Given the description of an element on the screen output the (x, y) to click on. 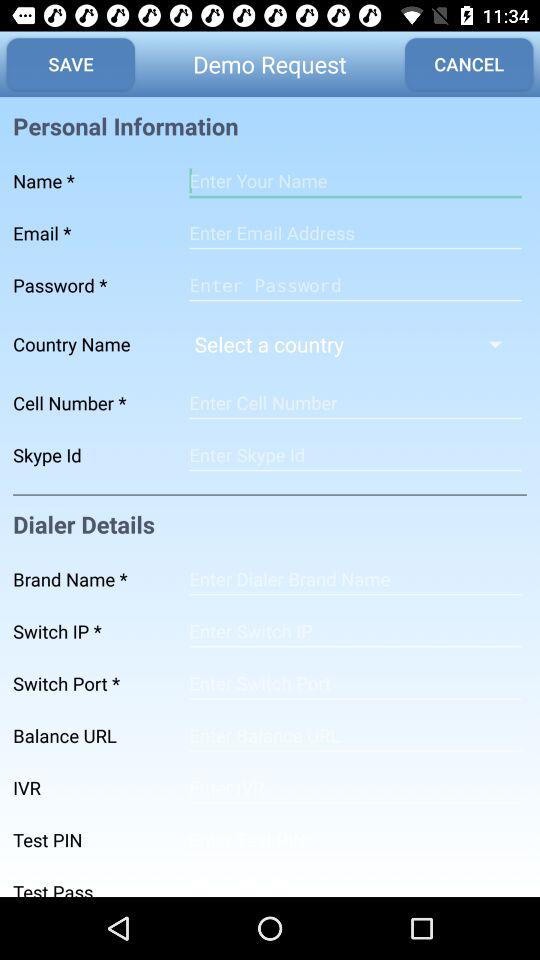
digit your cell number (355, 403)
